Given the description of an element on the screen output the (x, y) to click on. 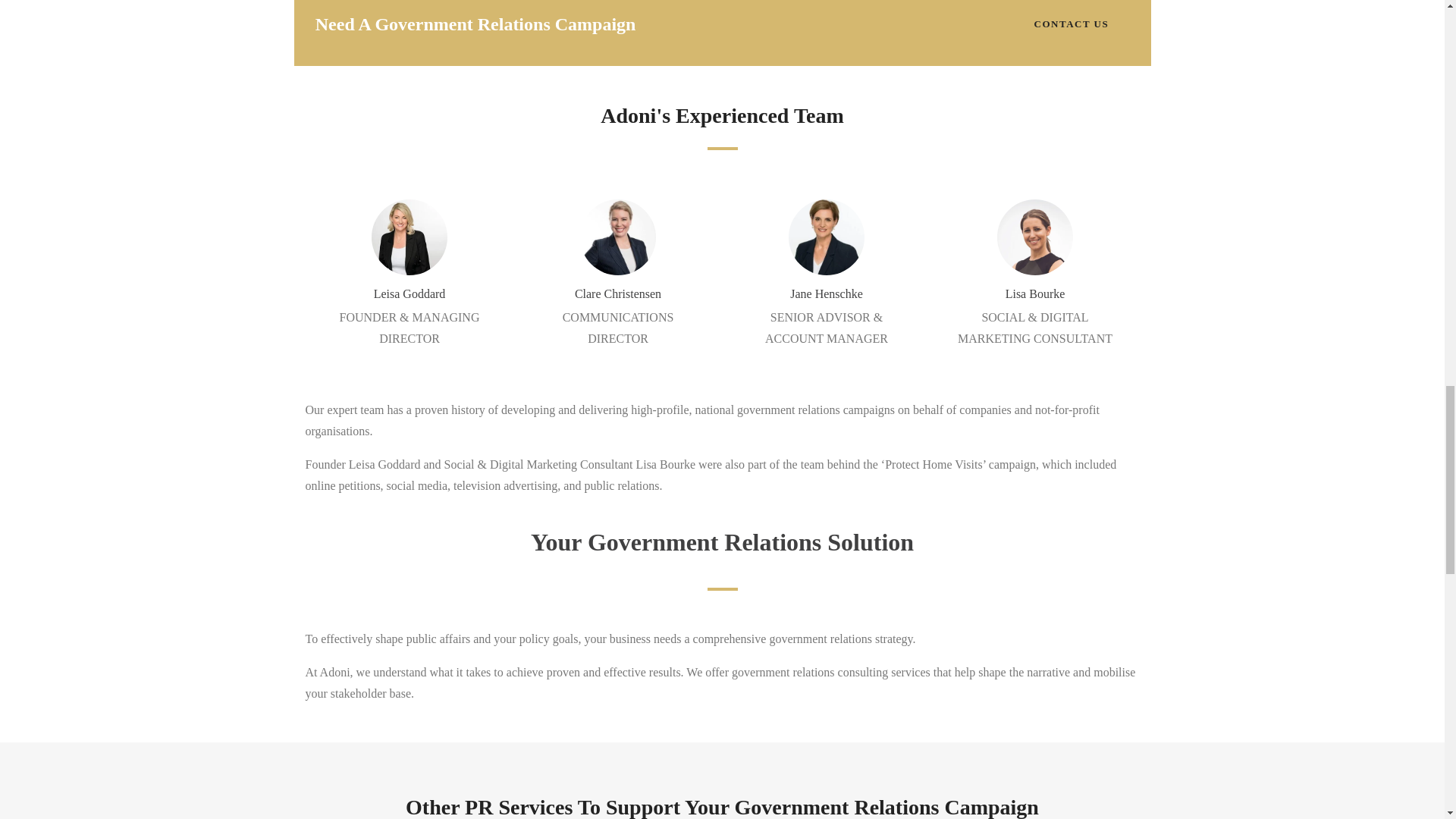
Leisa Goddard (409, 292)
CONTACT US (1071, 24)
